Given the description of an element on the screen output the (x, y) to click on. 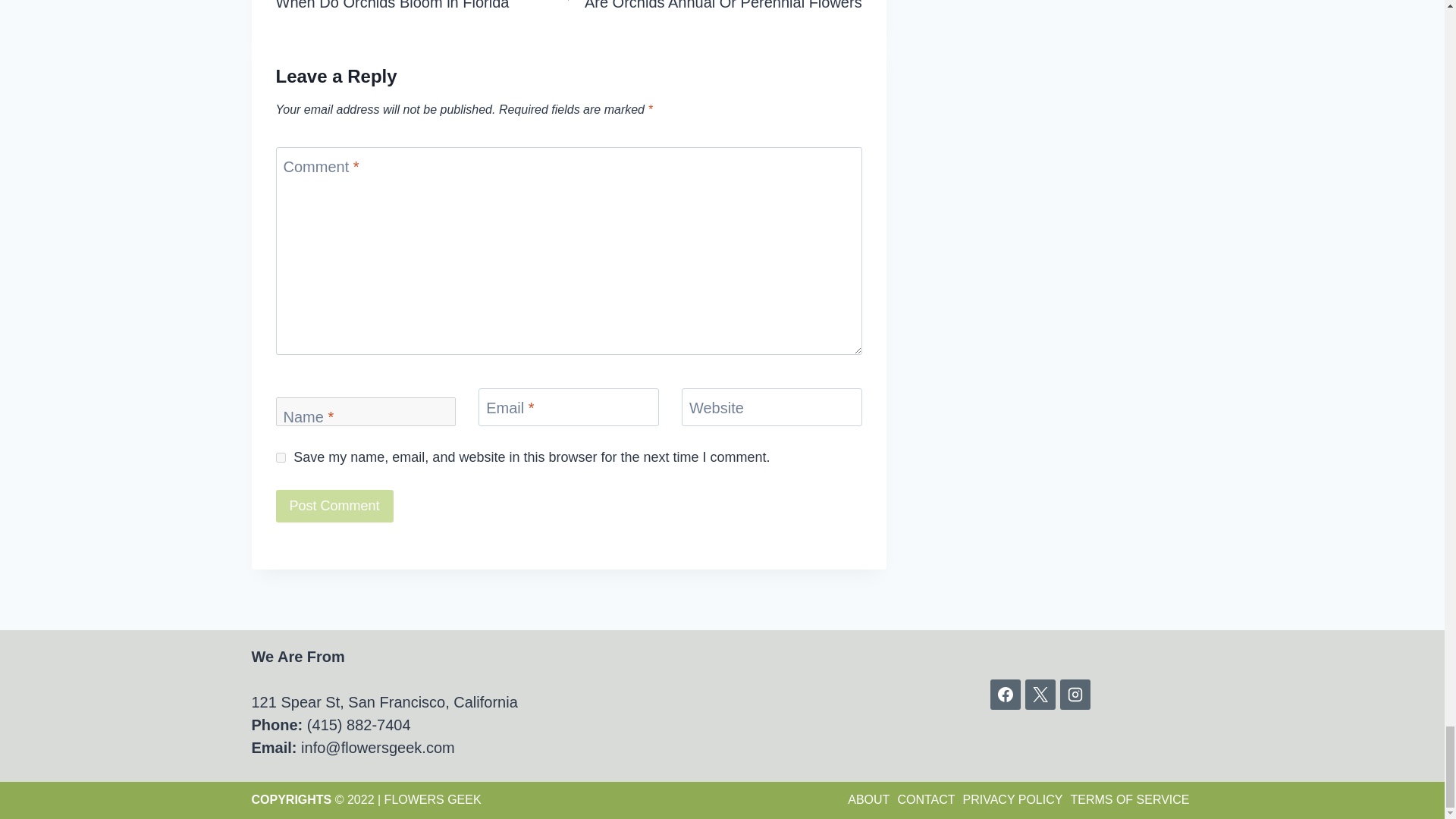
Post Comment (422, 7)
yes (334, 505)
Post Comment (280, 457)
